Given the description of an element on the screen output the (x, y) to click on. 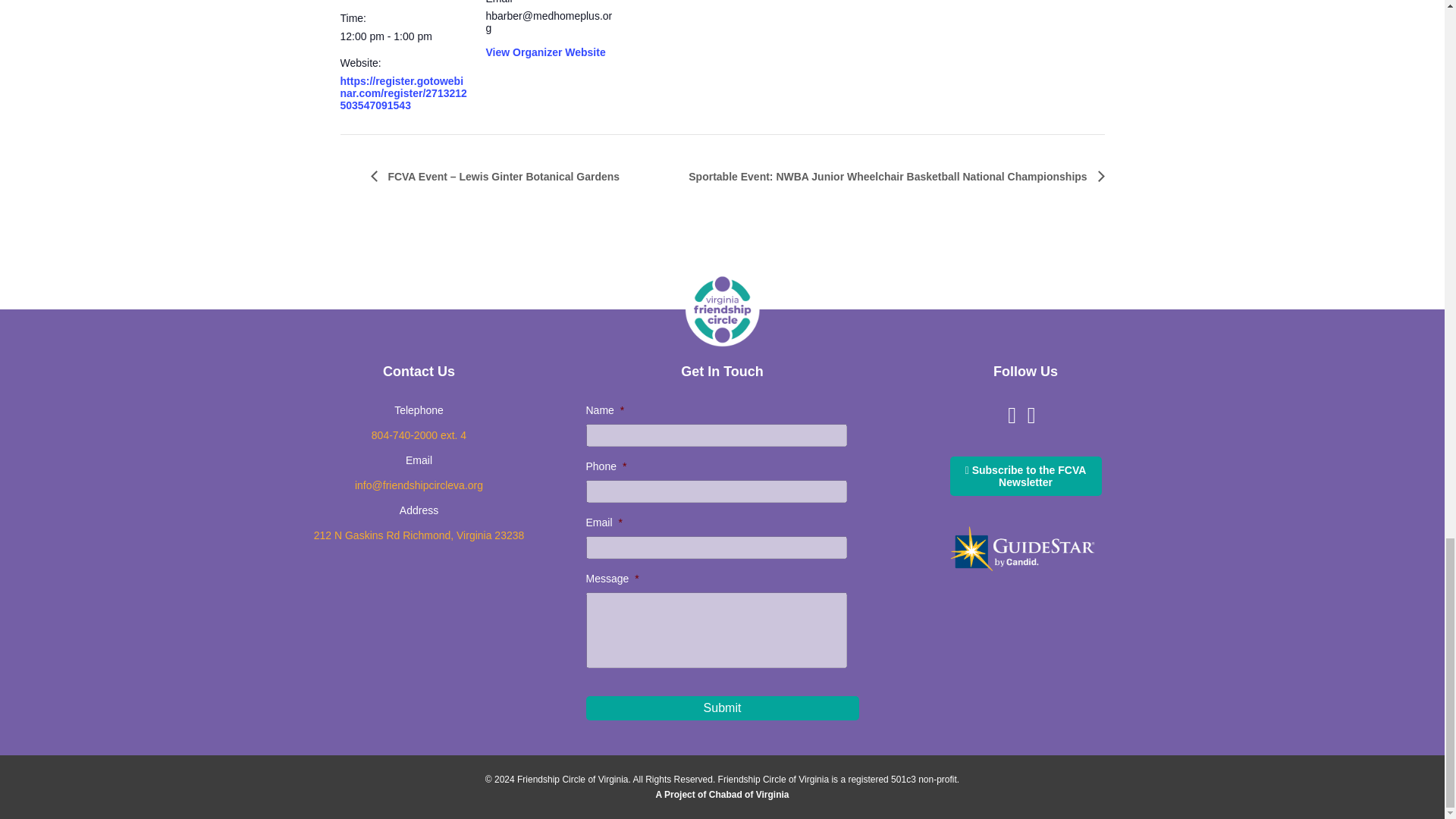
Submit (722, 708)
2024-03-21 (403, 36)
